Given the description of an element on the screen output the (x, y) to click on. 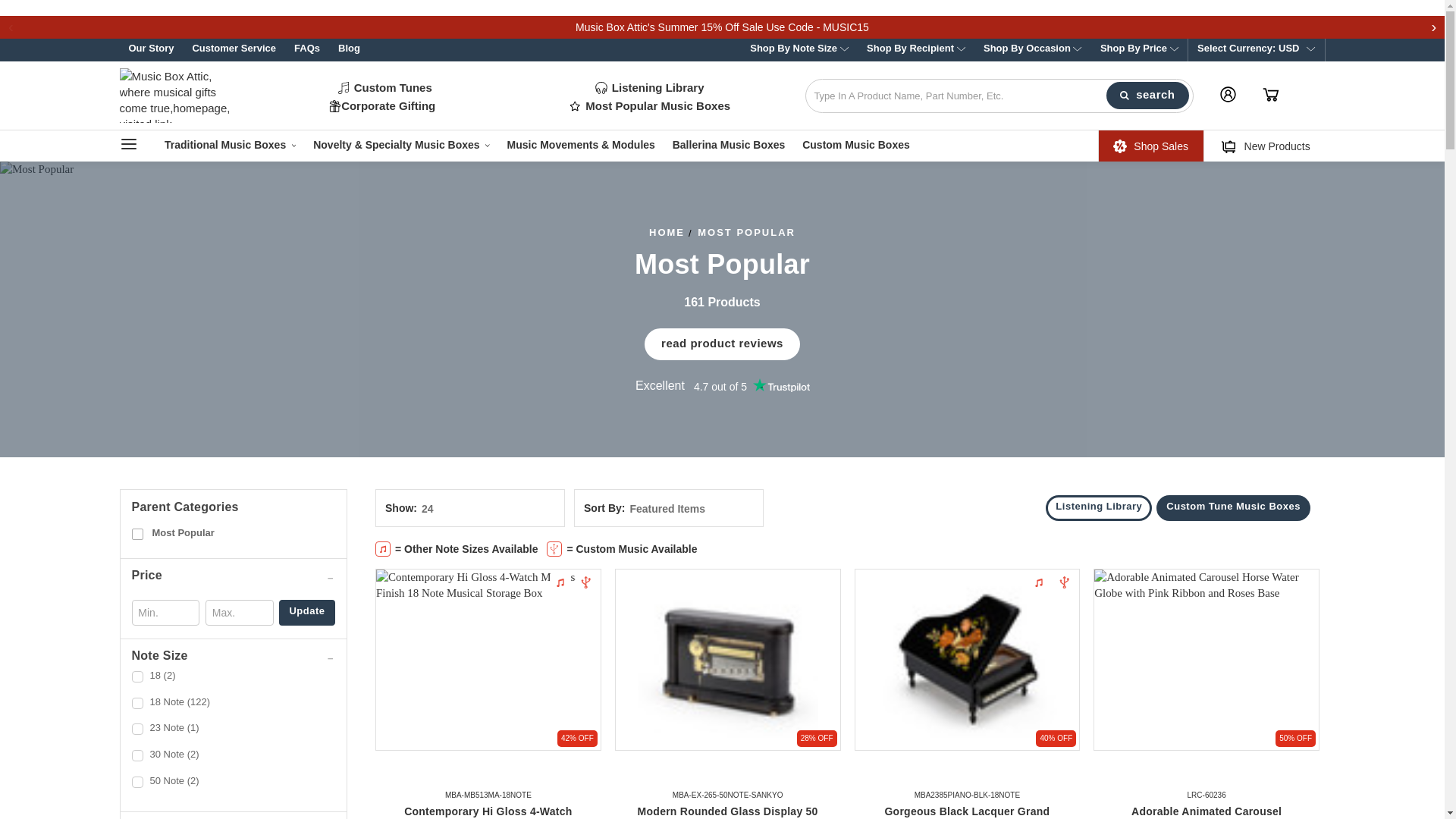
Our Story (151, 49)
MusicBoxAttic.com (175, 94)
Customer reviews powered by Trustpilot (966, 777)
Shop By Occasion (1032, 49)
Skip to content (10, 26)
Shop By Recipient (915, 49)
Customer reviews powered by Trustpilot (487, 777)
Customer reviews powered by Trustpilot (721, 385)
Shop By Price (1139, 49)
Customer Service (234, 49)
